Given the description of an element on the screen output the (x, y) to click on. 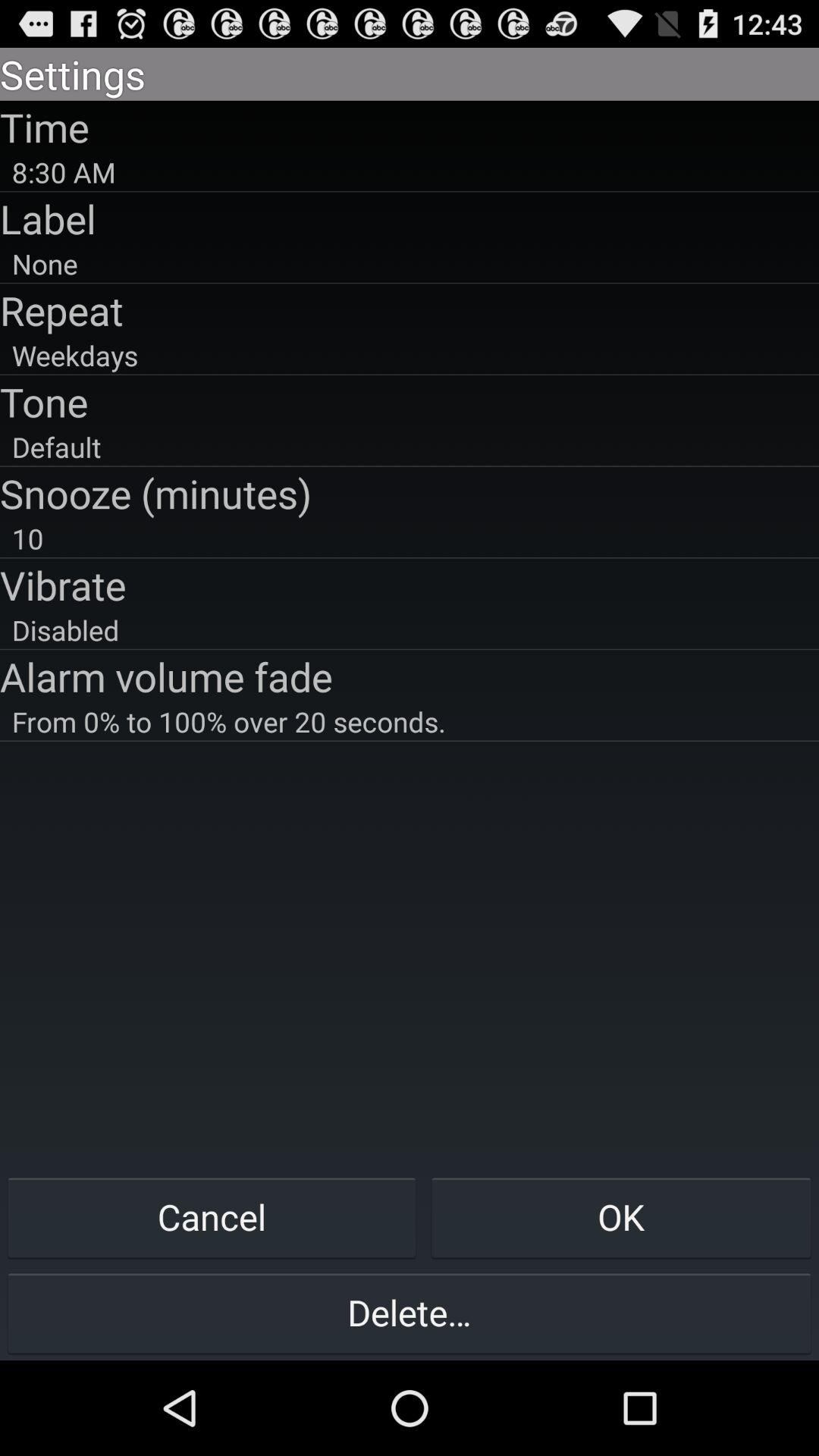
flip until cancel (211, 1216)
